Given the description of an element on the screen output the (x, y) to click on. 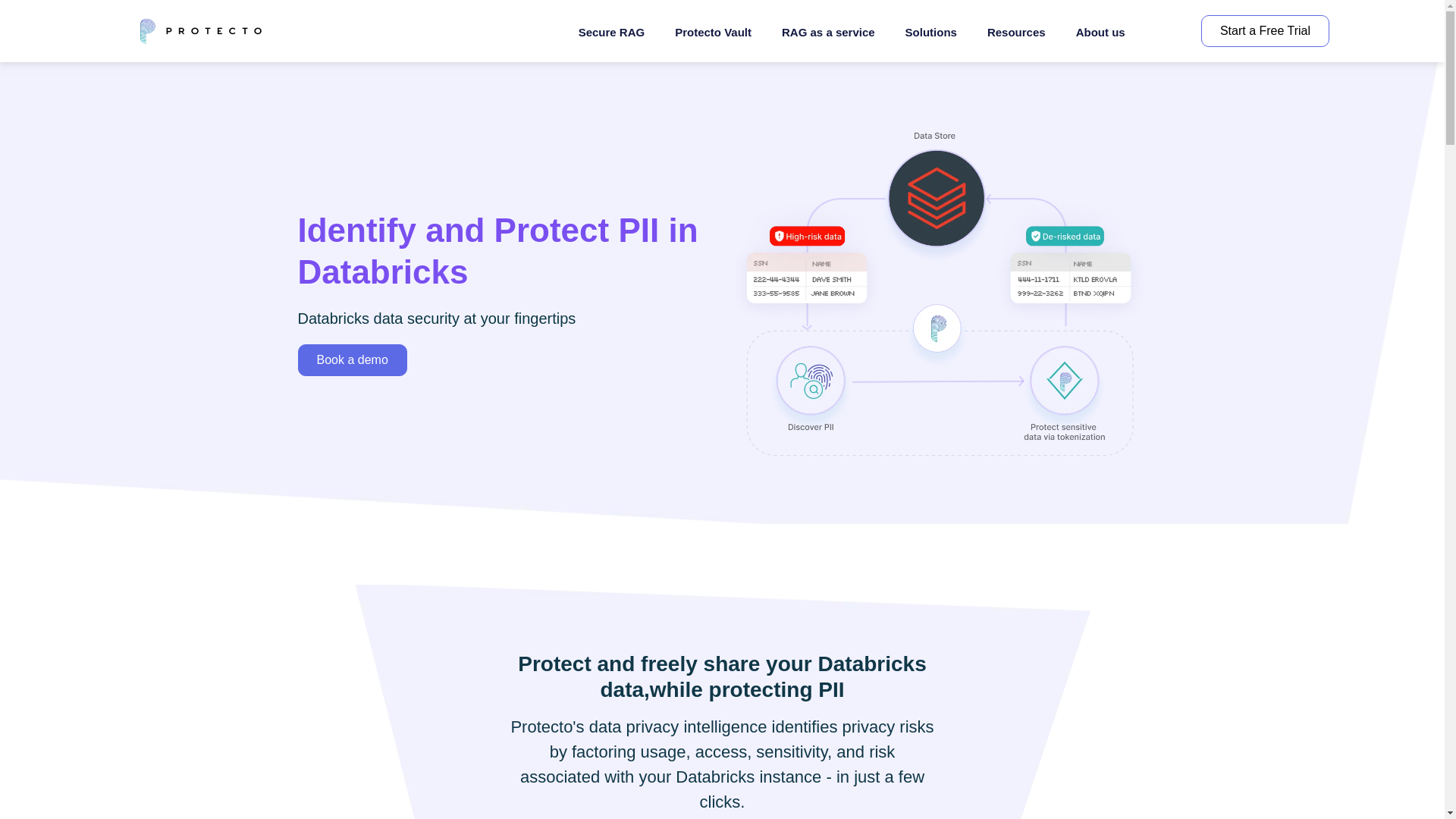
RAG as a service (828, 32)
Solutions (930, 32)
Secure RAG (612, 32)
Protecto Vault (713, 32)
Book a demo (351, 359)
Start a Free Trial (1265, 30)
Resources (1016, 32)
About us (1100, 32)
